Given the description of an element on the screen output the (x, y) to click on. 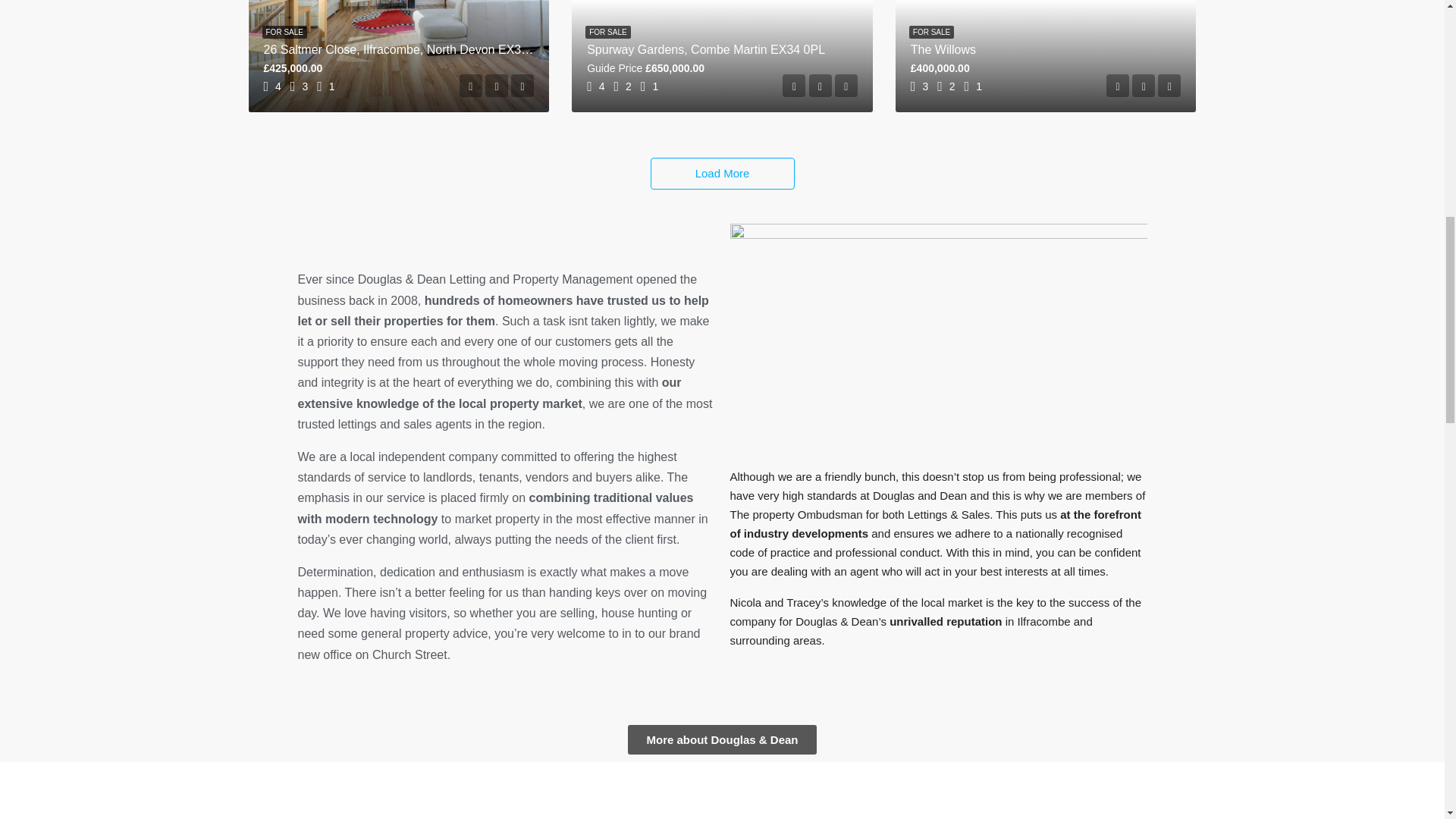
FOR SALE (284, 31)
Favourite (1143, 85)
Load More (722, 173)
Add to Compare (845, 85)
The Willows (943, 49)
Add to Compare (1168, 85)
Preview (1117, 85)
FOR SALE (607, 31)
26 Saltmer Close, Ilfracombe, North Devon EX34 8LY (407, 49)
Favourite (496, 85)
Preview (794, 85)
Favourite (820, 85)
Add to Compare (522, 85)
FOR SALE (930, 31)
Spurway Gardens, Combe Martin EX34 0PL (705, 49)
